Given the description of an element on the screen output the (x, y) to click on. 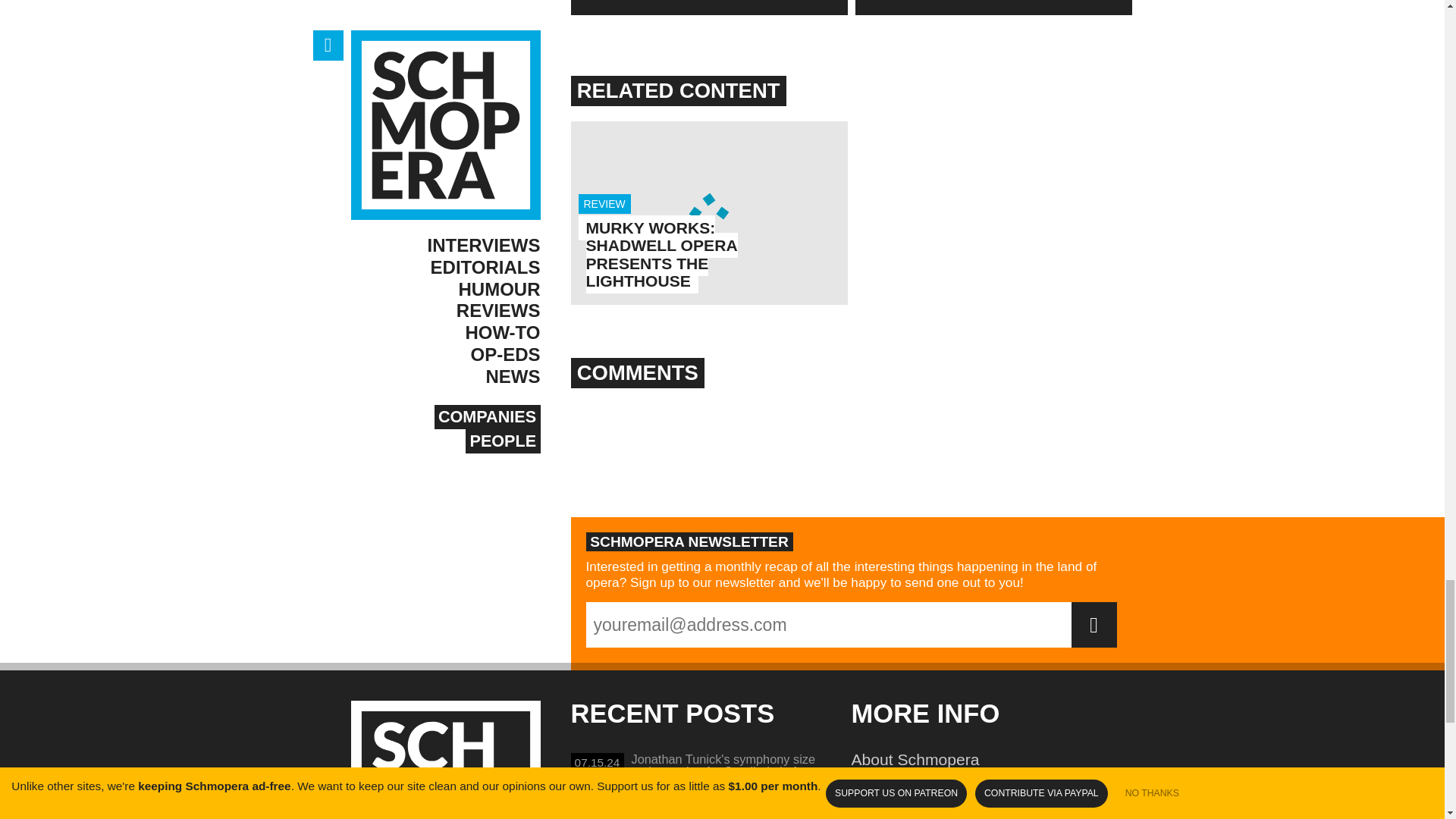
Murky works: Shadwell Opera presents The Lighthouse (660, 254)
Back to home page (445, 760)
Previous (708, 212)
Our Authors (708, 7)
Next (990, 786)
An Insightful, Relevant Look At Divas (994, 7)
About Schmopera (696, 812)
